Given the description of an element on the screen output the (x, y) to click on. 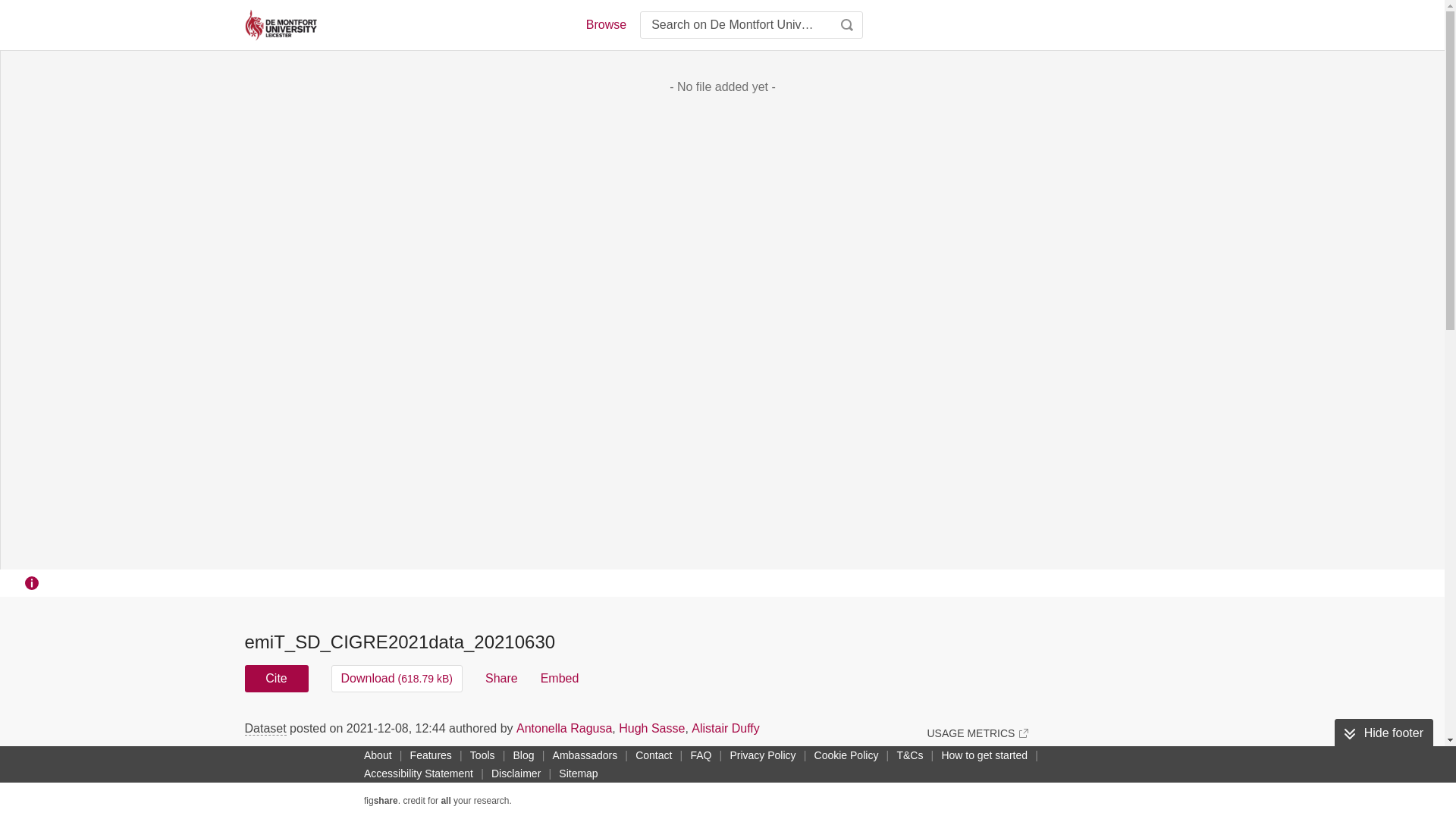
Antonella Ragusa (563, 727)
Embed (559, 678)
USAGE METRICS (976, 732)
Features (431, 755)
About (377, 755)
Hide footer (1383, 733)
Alistair Duffy (725, 727)
Hugh Sasse (651, 727)
Cite (275, 678)
Share (501, 678)
Browse (605, 24)
